Given the description of an element on the screen output the (x, y) to click on. 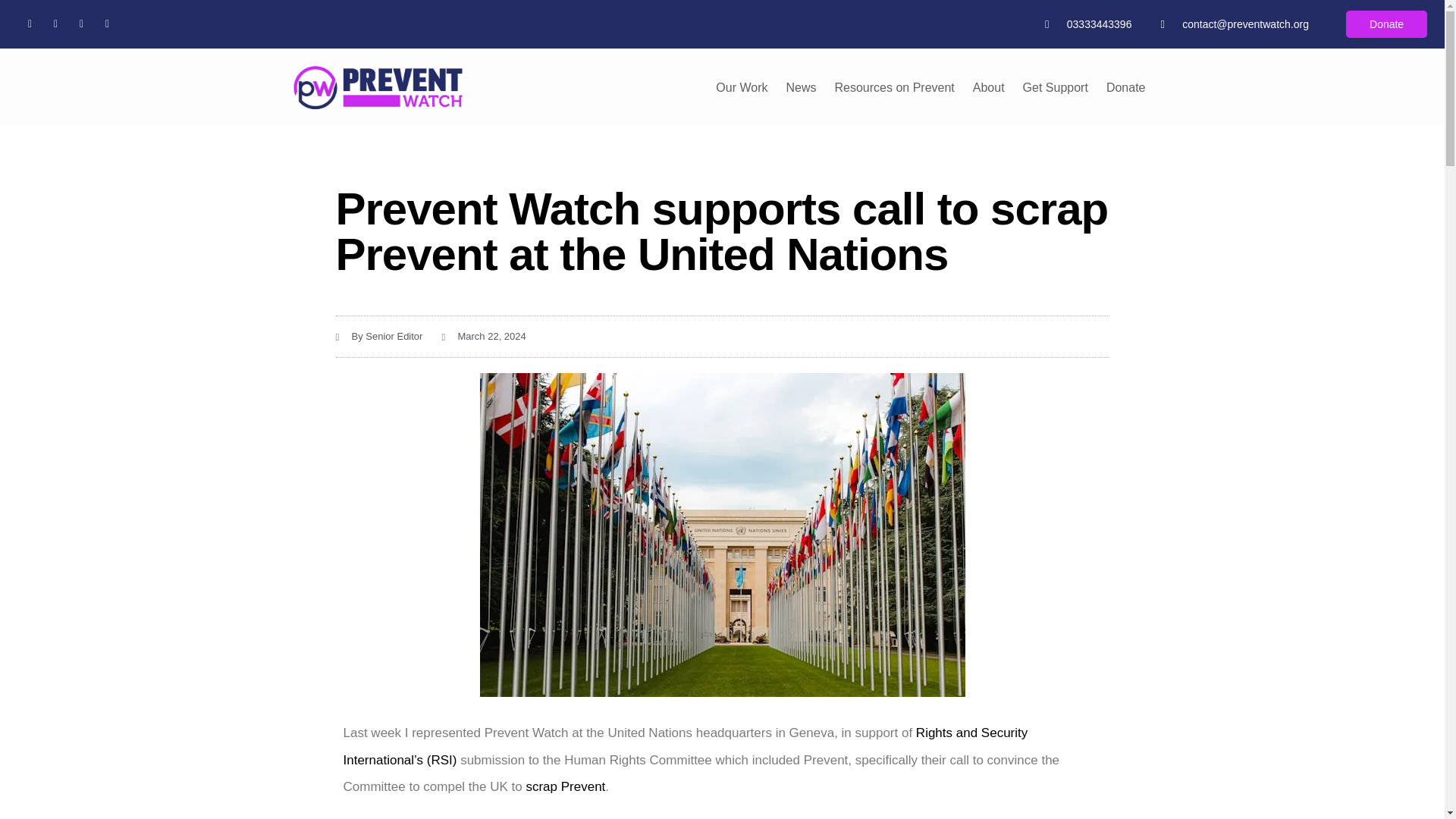
03333443396 (1088, 24)
News (800, 87)
Our Work (741, 87)
About (988, 87)
Get Support (1055, 87)
Donate (1125, 87)
Resources on Prevent (893, 87)
Donate (1386, 23)
